Given the description of an element on the screen output the (x, y) to click on. 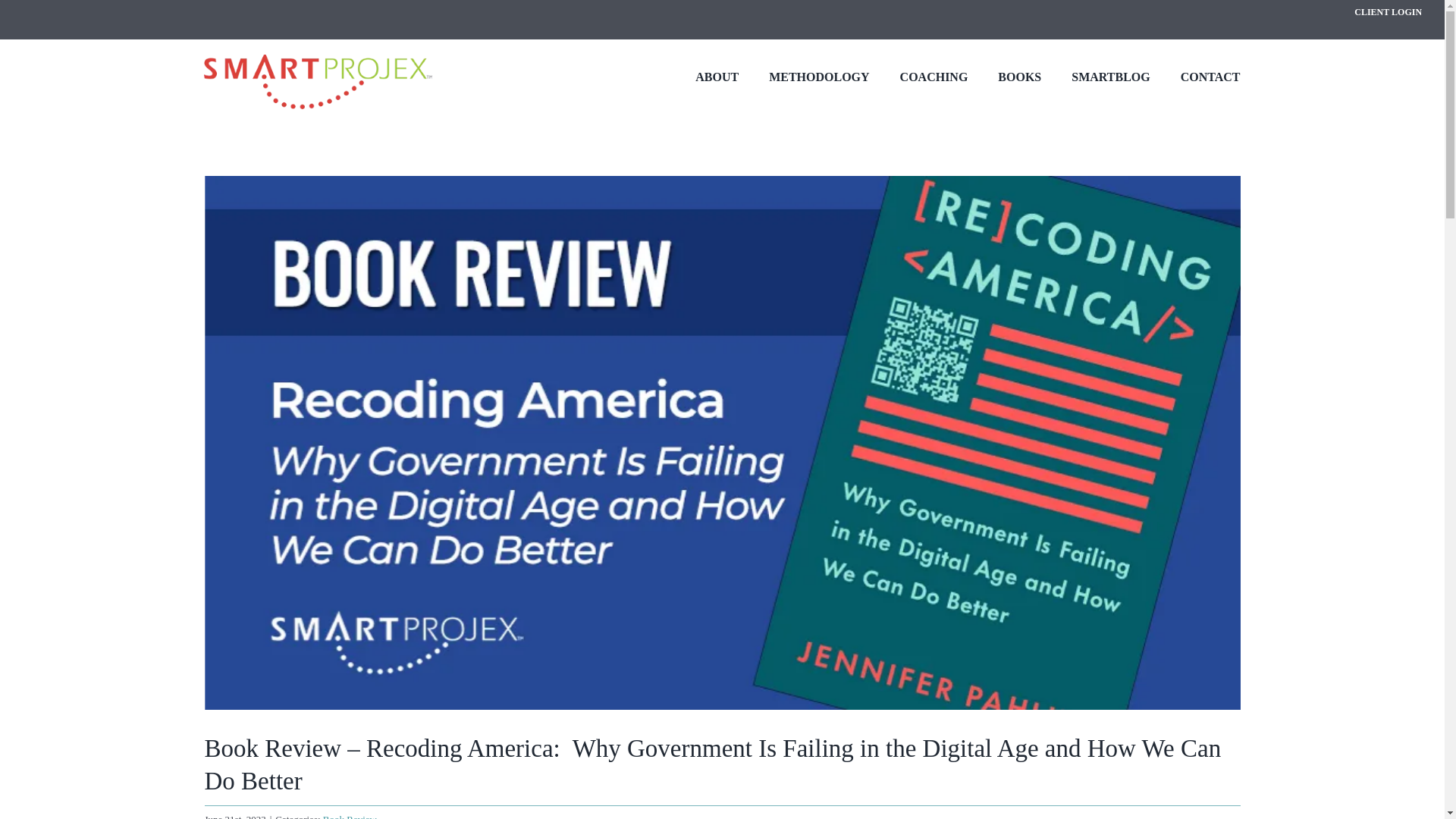
ABOUT (716, 77)
COACHING (933, 77)
SMARTBLOG (1110, 77)
CLIENT LOGIN (1388, 11)
Book Review (350, 816)
CONTACT (1210, 77)
METHODOLOGY (818, 77)
BOOKS (1019, 77)
